Given the description of an element on the screen output the (x, y) to click on. 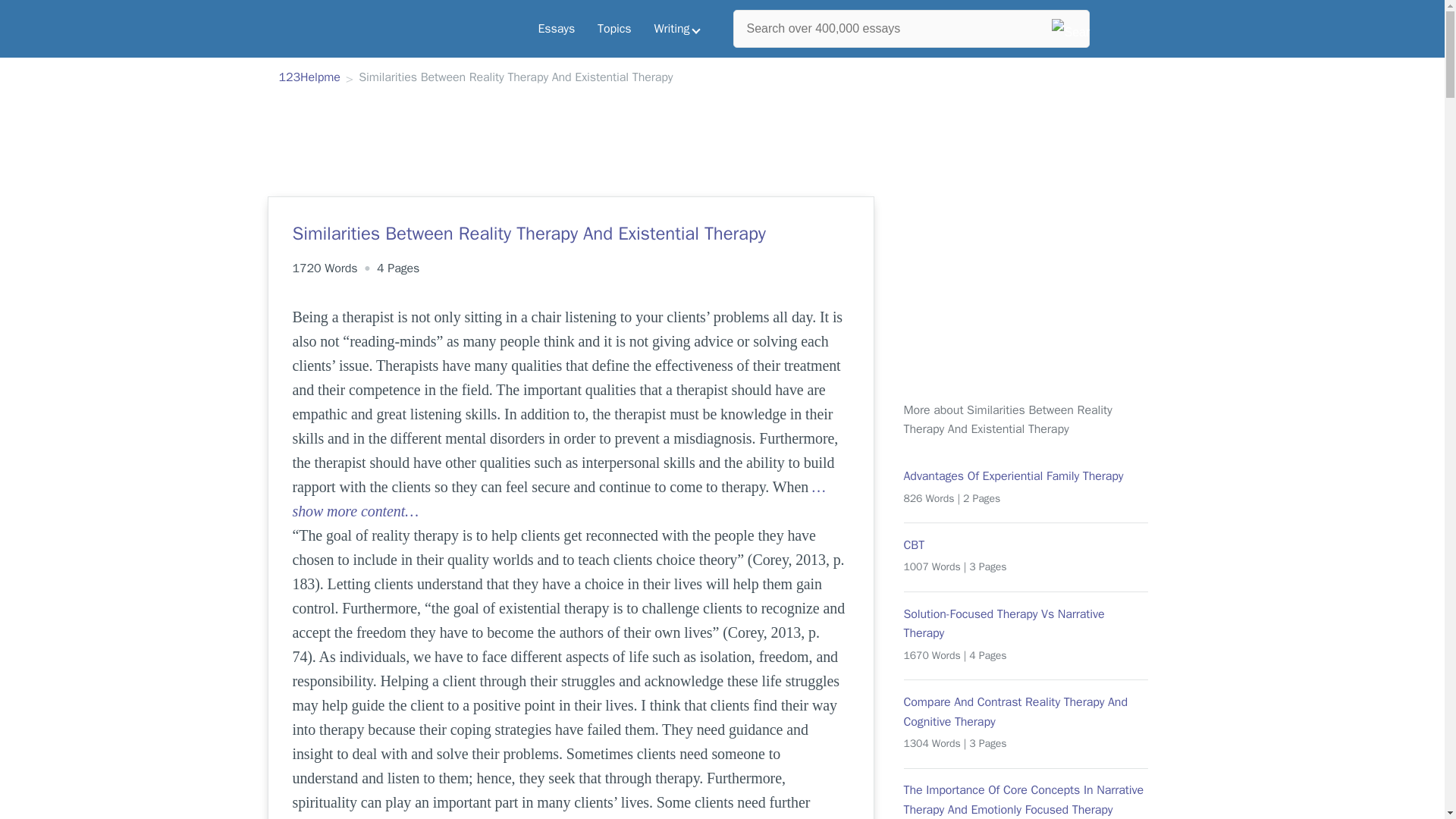
Essays (555, 28)
123Helpme (309, 78)
Topics (614, 28)
Writing (677, 28)
